Given the description of an element on the screen output the (x, y) to click on. 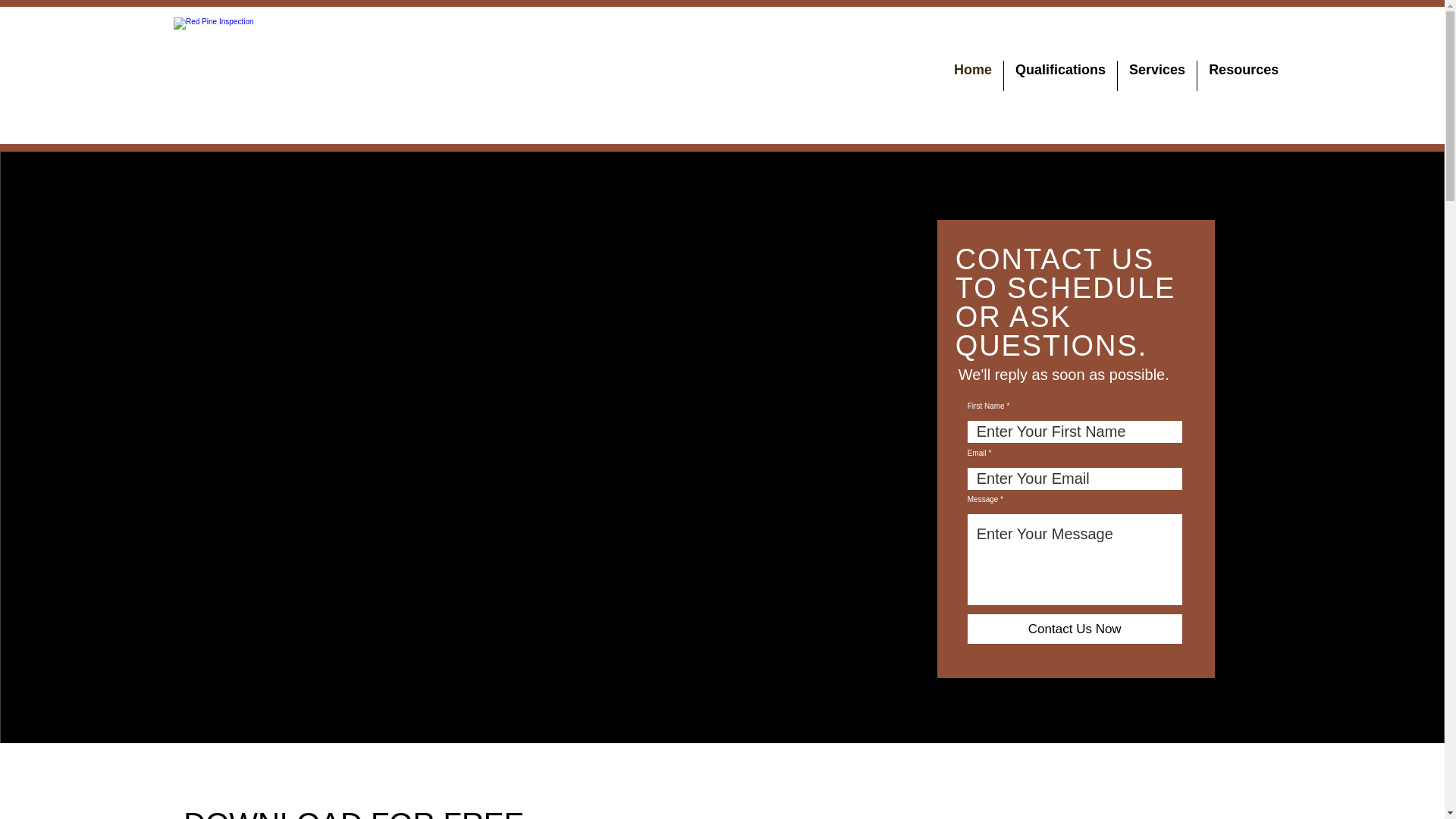
Home (972, 75)
Qualifications (1060, 75)
Services (1157, 75)
Contact Us Now (1075, 628)
